Given the description of an element on the screen output the (x, y) to click on. 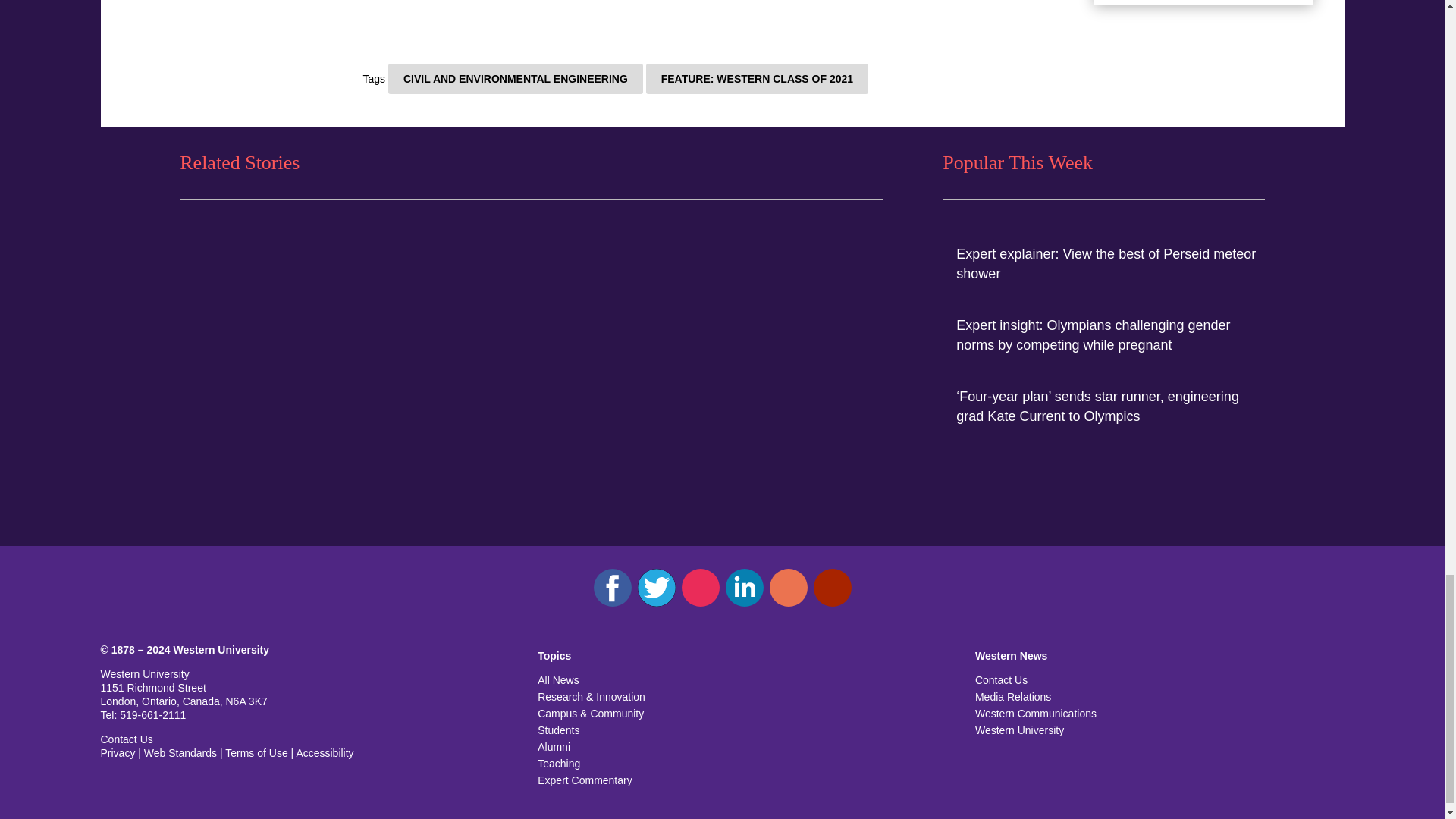
Follow on X (656, 587)
Follow on Facebook (611, 587)
Follow on Weibo (787, 587)
Follow on LinkedIn (743, 587)
Follow on Instagram (700, 587)
Follow on Youtube (831, 587)
